Given the description of an element on the screen output the (x, y) to click on. 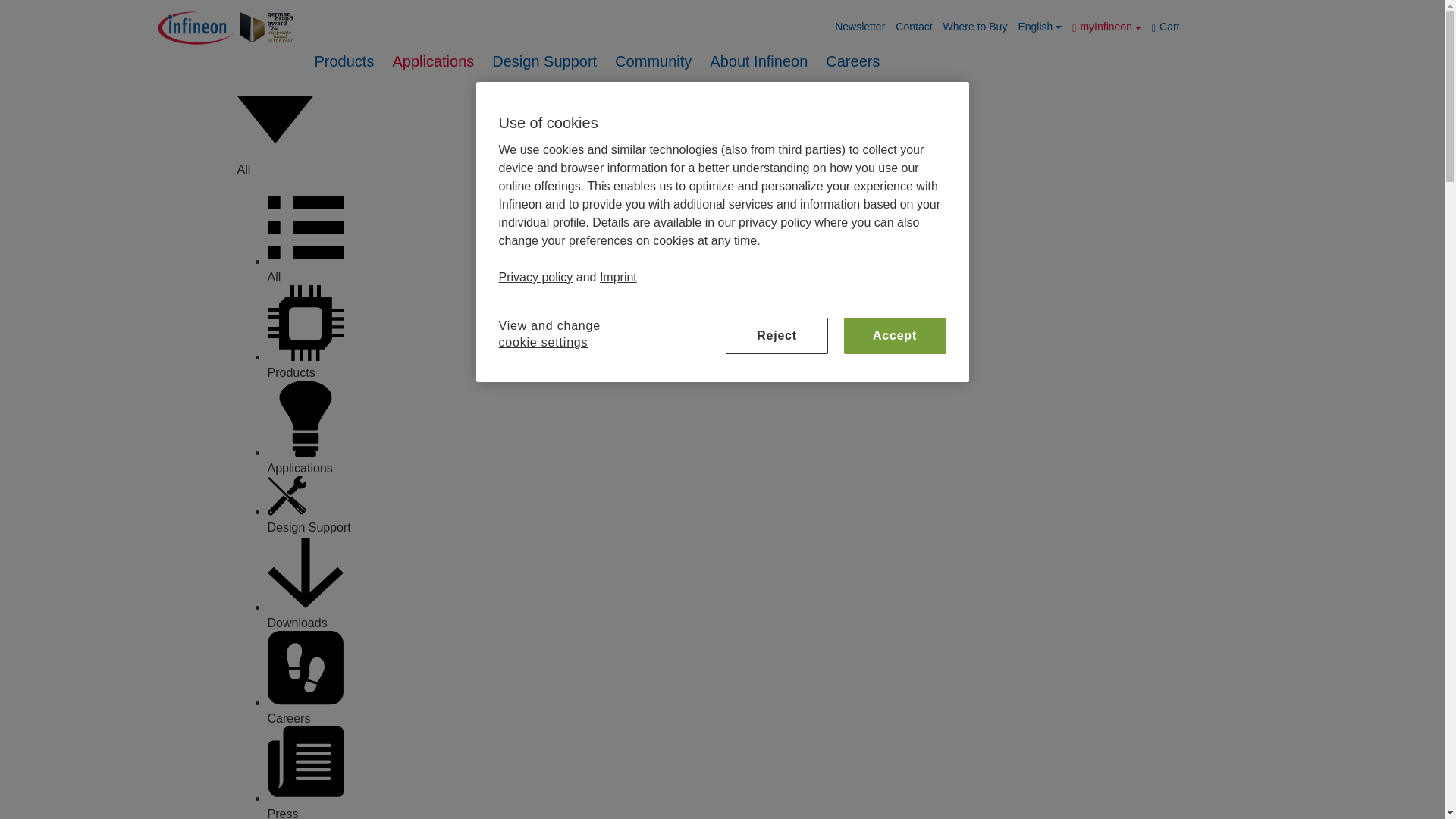
Newsletter (859, 26)
Cart (1166, 26)
Where to Buy (975, 26)
Design Support (544, 60)
Products (343, 60)
Applications (432, 60)
About Infineon (758, 60)
Community (653, 60)
Privacy policy (536, 277)
Careers (852, 60)
Contact (913, 26)
